Given the description of an element on the screen output the (x, y) to click on. 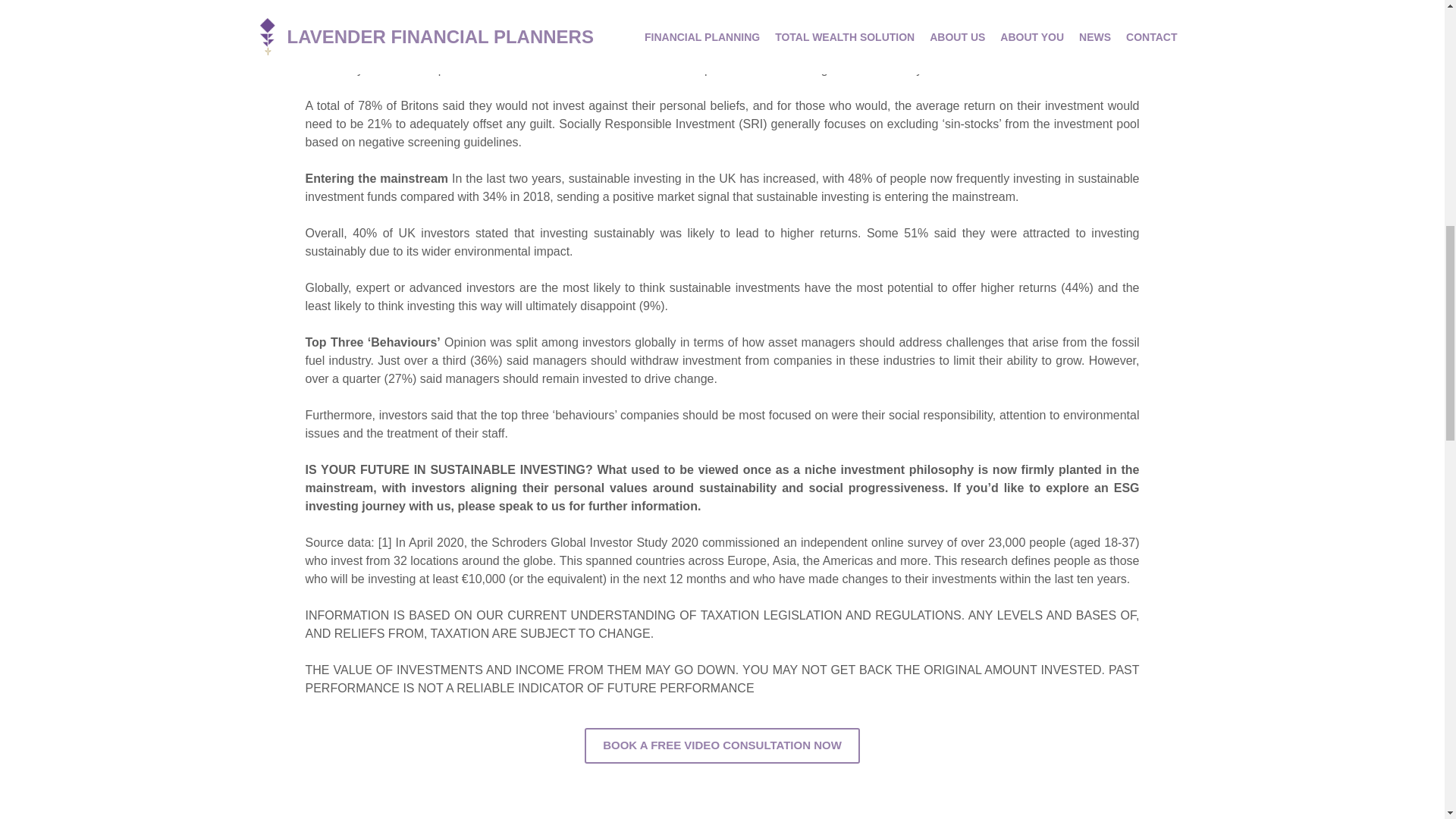
BOOK A FREE VIDEO CONSULTATION NOW (722, 745)
